Given the description of an element on the screen output the (x, y) to click on. 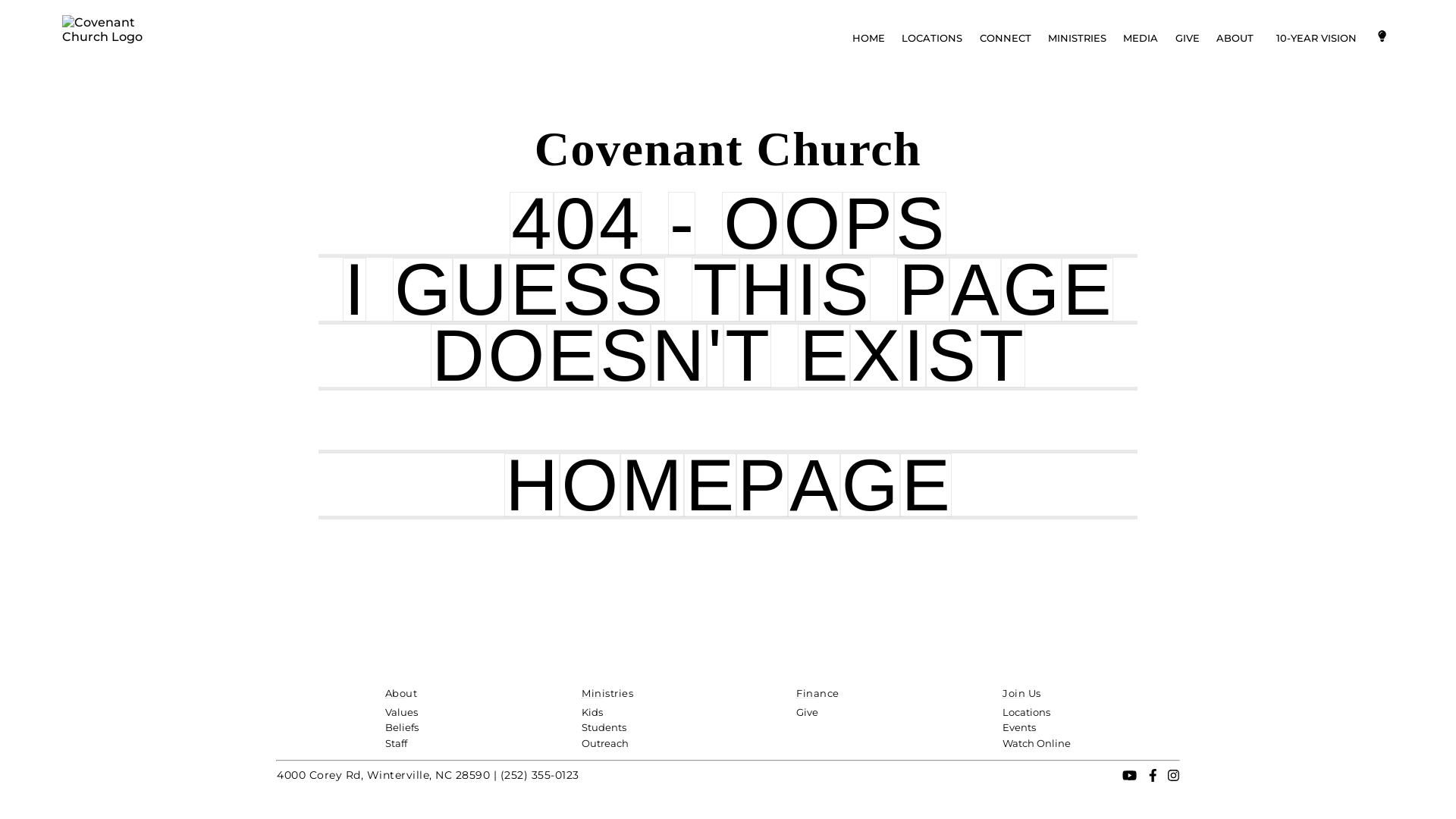
(252) 355-0123 Element type: text (539, 774)
Watch Online Element type: text (1036, 743)
10-YEAR VISION Element type: text (1315, 37)
Locations Element type: text (1026, 711)
Beliefs Element type: text (401, 727)
Students Element type: text (603, 727)
GIVE Element type: text (1187, 37)
HOME Element type: text (868, 37)
Give Element type: text (807, 711)
CONNECT Element type: text (1004, 37)
Outreach Element type: text (604, 743)
ABOUT Element type: text (1234, 37)
Staff Element type: text (396, 743)
LOCATIONS Element type: text (931, 37)
Events Element type: text (1018, 727)
Values Element type: text (401, 711)
Kids Element type: text (591, 711)
